Given the description of an element on the screen output the (x, y) to click on. 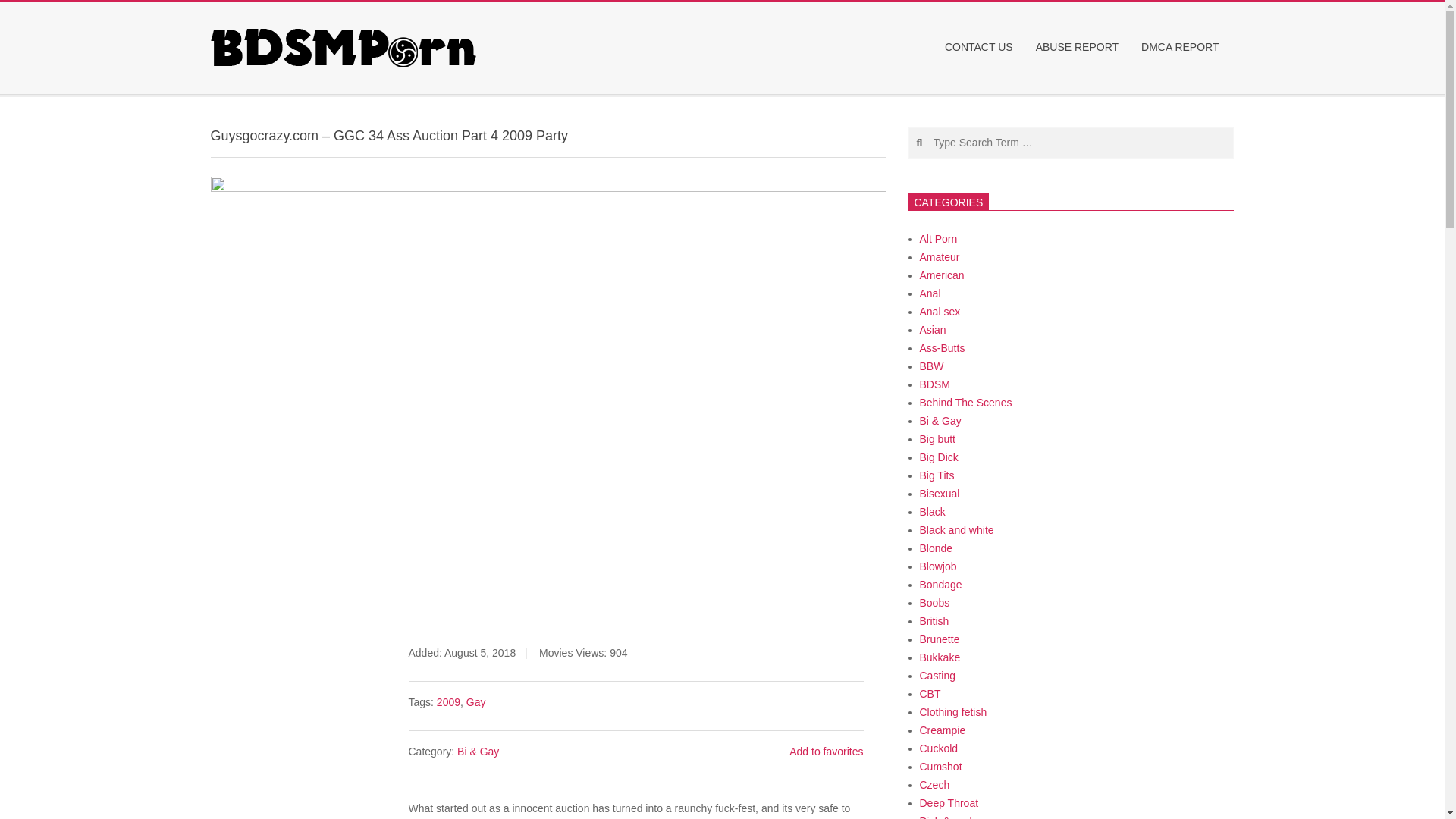
Gay (475, 702)
DMCA REPORT (1183, 47)
2009 (448, 702)
bookmark this page (826, 751)
Alt Porn (937, 238)
Add to favorites (826, 751)
CONTACT US (982, 47)
ABUSE REPORT (1080, 47)
